Given the description of an element on the screen output the (x, y) to click on. 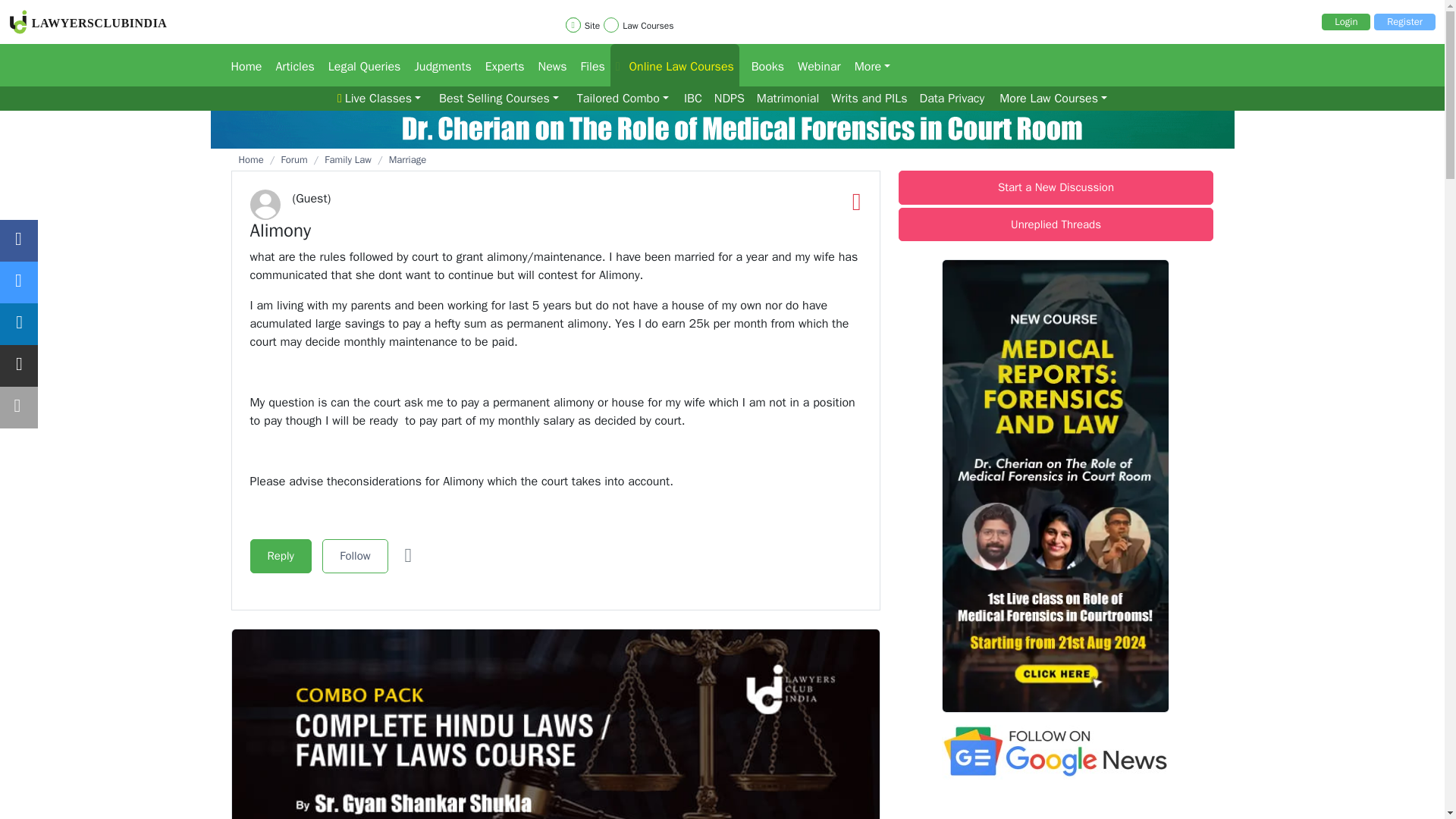
Forum (359, 65)
Judgments (436, 65)
Share Files (589, 65)
Best Selling Courses (498, 98)
News (547, 65)
Register (1404, 21)
Online Law Courses  (674, 65)
Webinar (814, 65)
Books (762, 65)
Live Classes (378, 98)
